Given the description of an element on the screen output the (x, y) to click on. 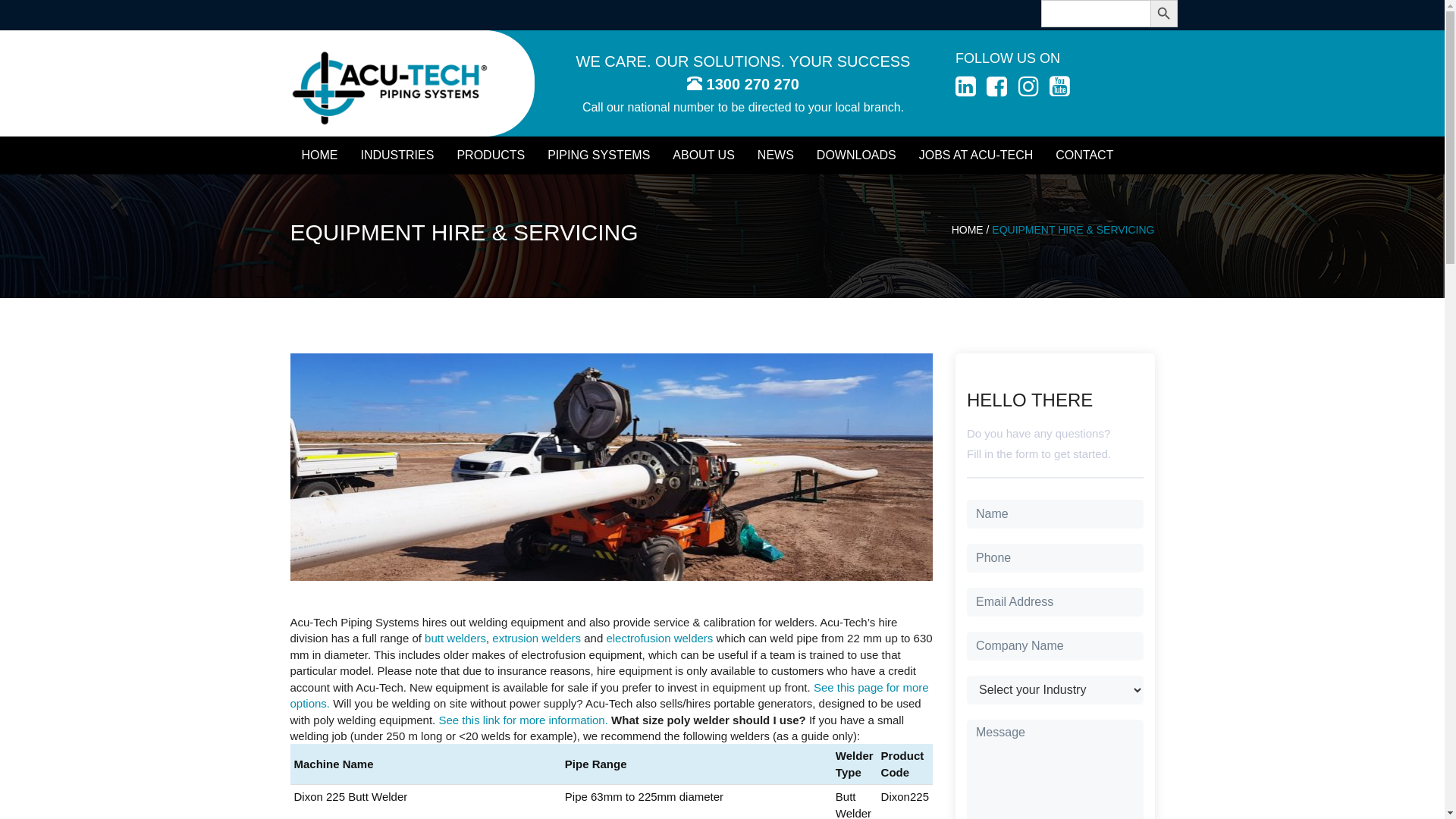
HOME Element type: text (967, 229)
Search Button Element type: text (1162, 13)
See this link for more information. Element type: text (522, 719)
electrofusion welders Element type: text (658, 637)
Acu-Tech Piping Systems Element type: hover (389, 87)
extrusion welders Element type: text (536, 637)
PIPING SYSTEMS Element type: text (598, 155)
Our Instagram page Element type: hover (1029, 90)
Our Youtube page Element type: hover (1059, 90)
JOBS AT ACU-TECH Element type: text (975, 155)
DOWNLOADS Element type: text (856, 155)
See this page for more options. Element type: text (608, 694)
HOME Element type: text (318, 155)
CONTACT Element type: text (1084, 155)
butt welders Element type: text (455, 637)
ABOUT US Element type: text (703, 155)
PRODUCTS Element type: text (490, 155)
Our Facebook page Element type: hover (998, 90)
Landscape Pipework BannerV2 Element type: hover (721, 254)
Our Linked In page Element type: hover (967, 90)
NEWS Element type: text (775, 155)
Acu-Tech Hire HDPE Pipe Welder Element type: hover (610, 466)
INDUSTRIES Element type: text (396, 155)
